Given the description of an element on the screen output the (x, y) to click on. 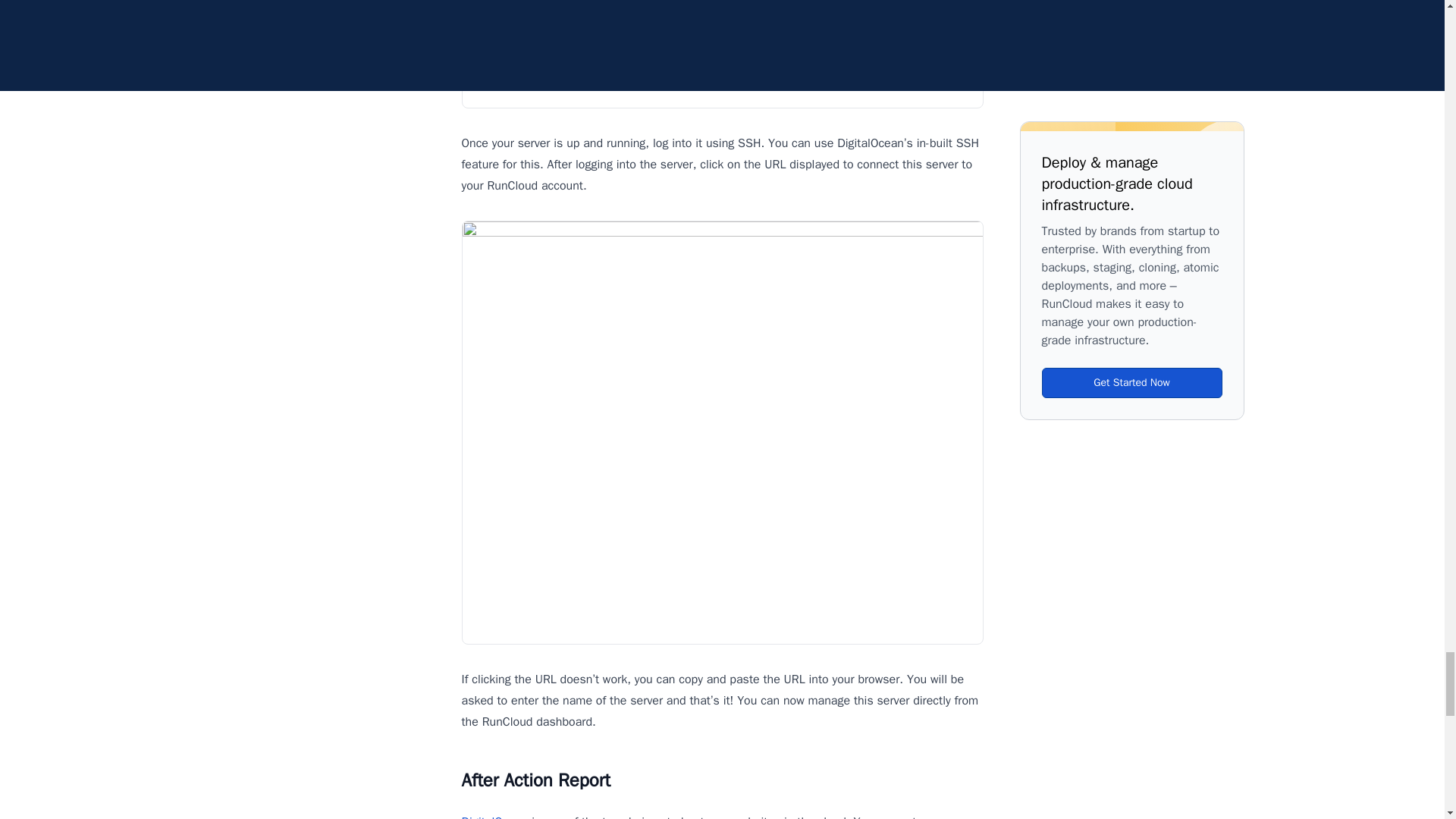
DigitalOcean (494, 816)
